Given the description of an element on the screen output the (x, y) to click on. 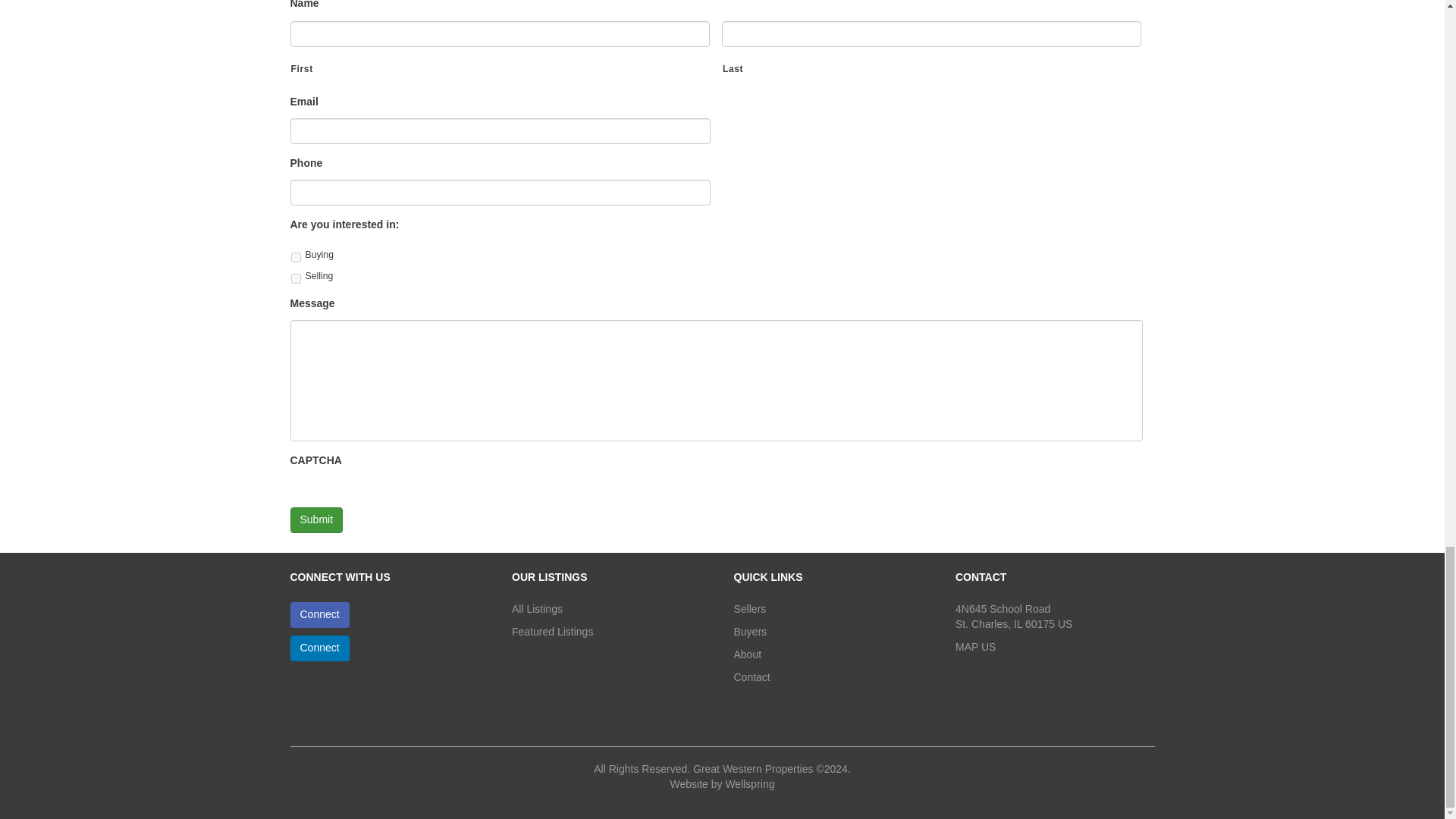
Submit (315, 519)
Selling (296, 278)
Buying (296, 257)
